Given the description of an element on the screen output the (x, y) to click on. 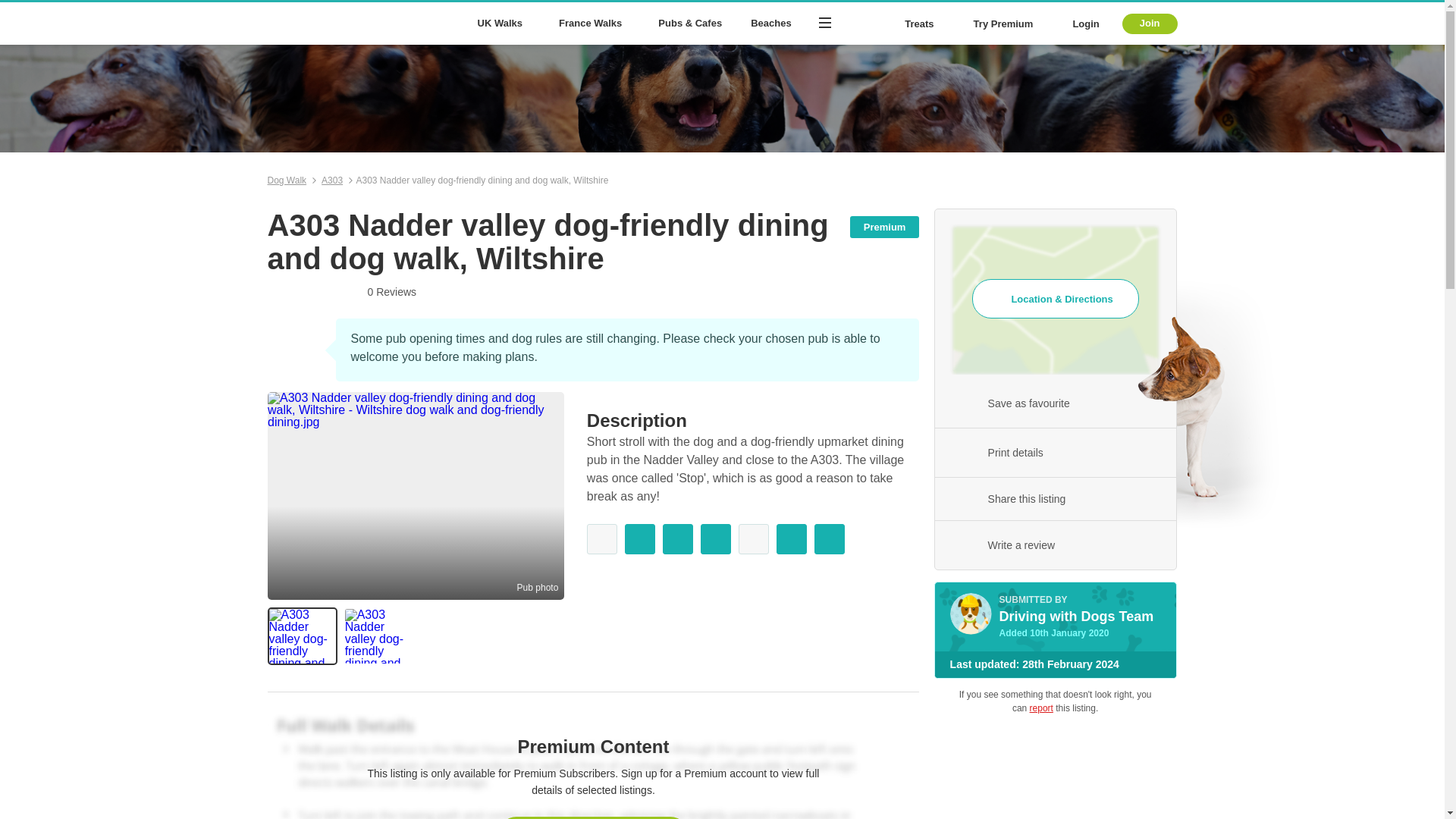
Beaches (770, 23)
Children's Activities Not Available (753, 539)
UK Walks (502, 23)
Sleep Available (828, 539)
No Height Restriction (791, 539)
Free Parking Available (715, 539)
WC Available (677, 539)
Disabled Access Not Available (601, 539)
Refreshments Available (639, 539)
Pub photo (536, 587)
